Given the description of an element on the screen output the (x, y) to click on. 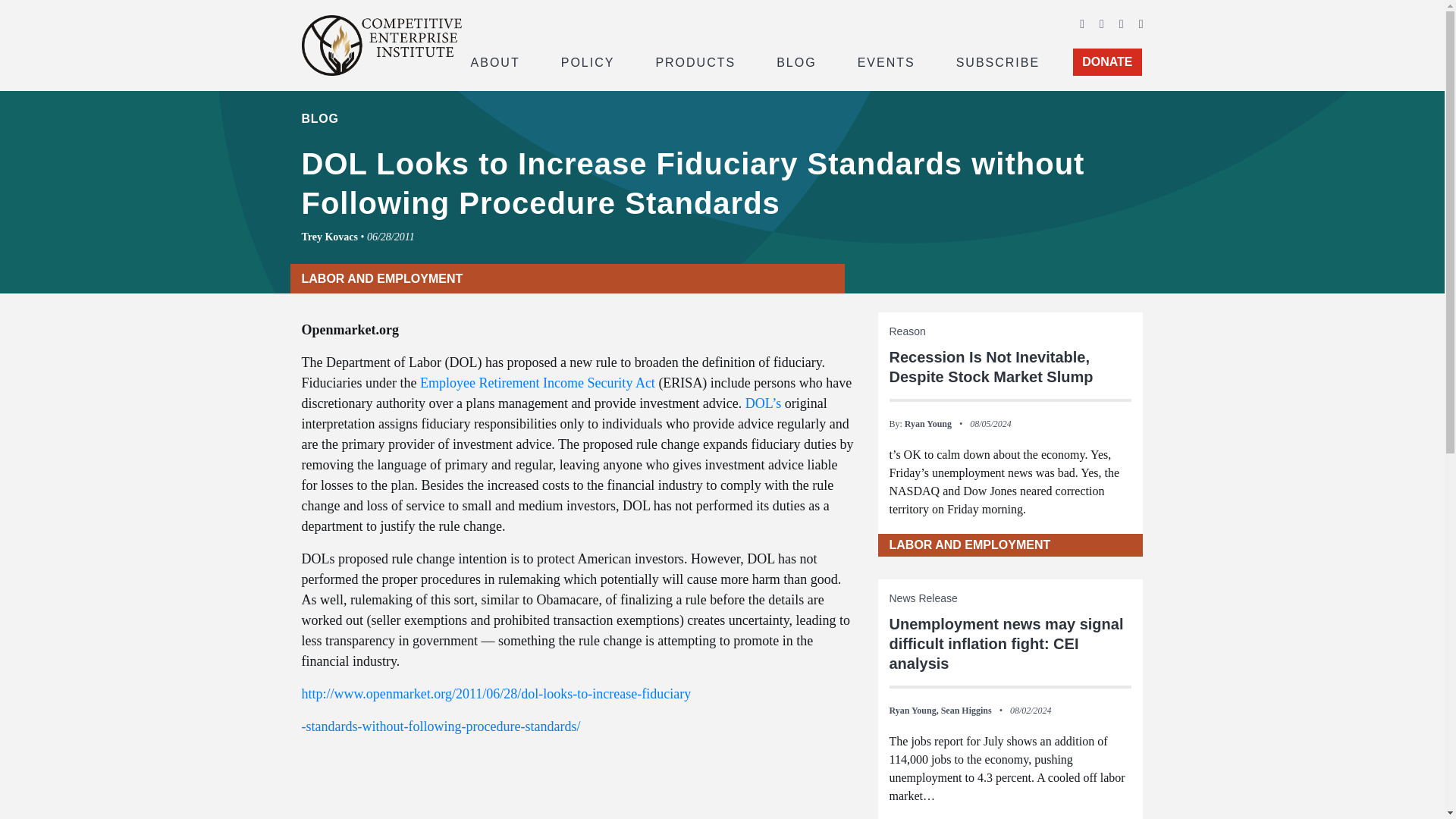
EVENTS (886, 61)
POLICY (588, 61)
PRODUCTS (694, 61)
ABOUT (495, 61)
BLOG (796, 61)
SUBSCRIBE (997, 61)
DONATE (1107, 62)
